Given the description of an element on the screen output the (x, y) to click on. 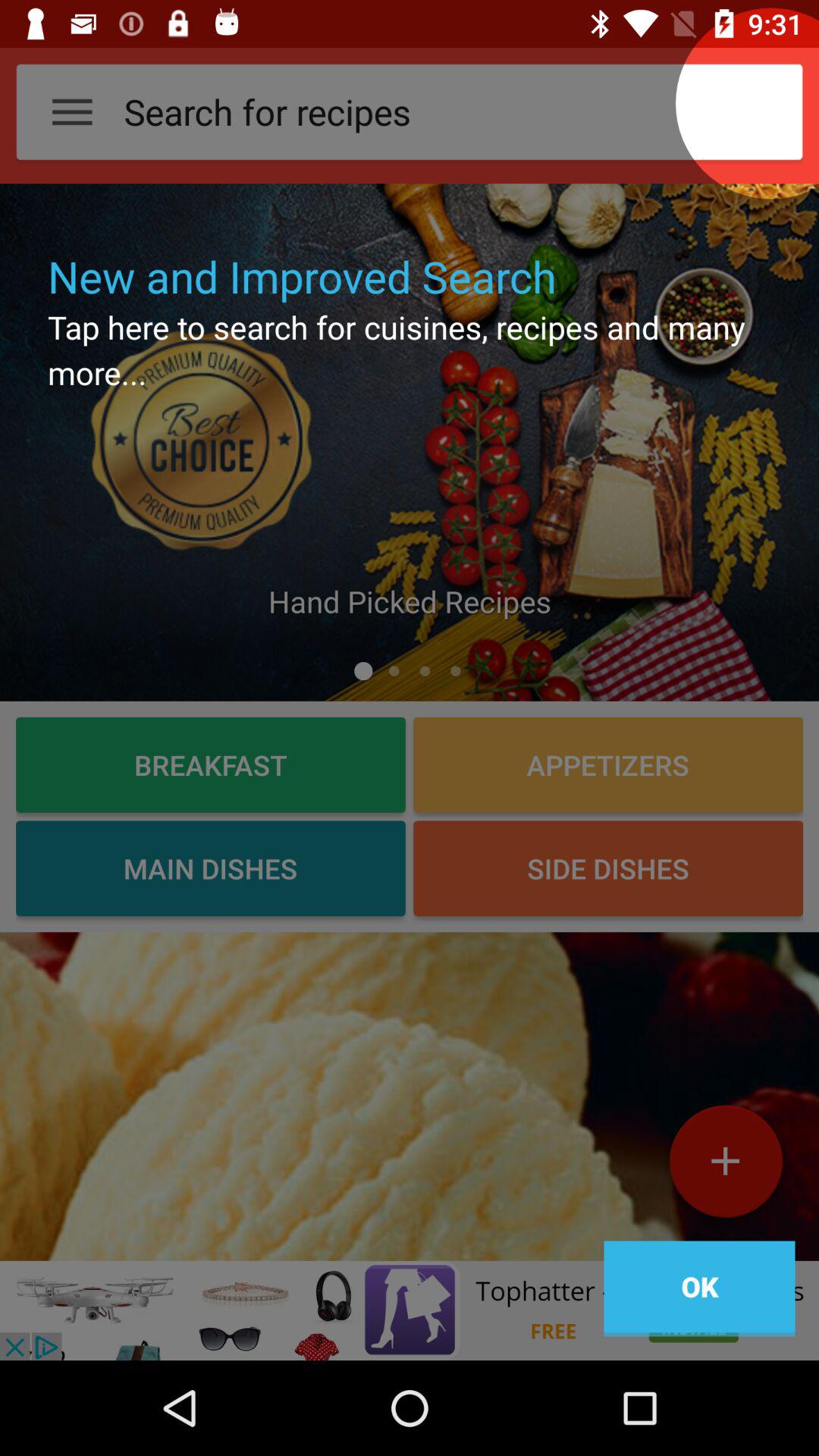
click the picture (409, 442)
